Given the description of an element on the screen output the (x, y) to click on. 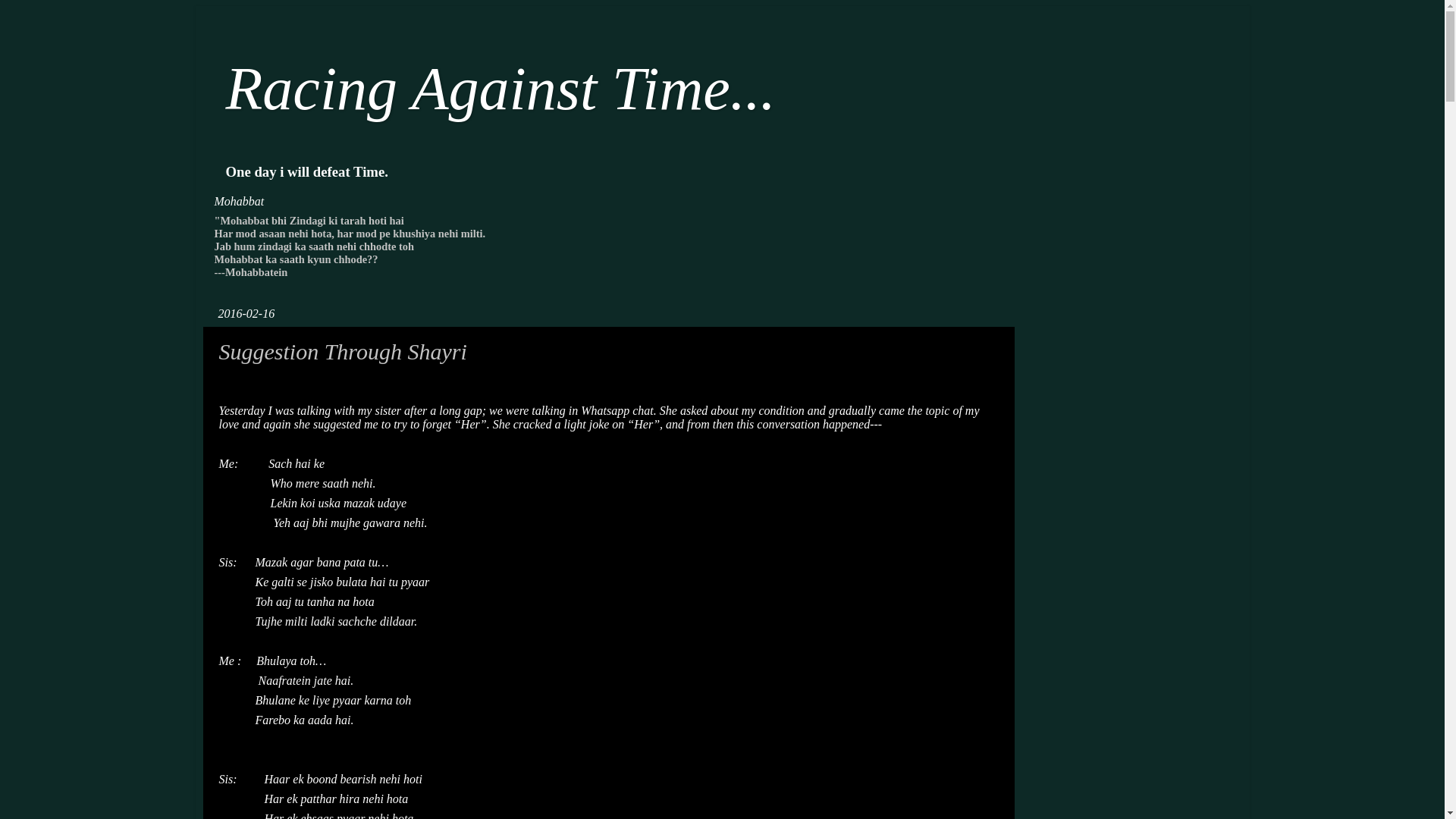
Racing Against Time... (500, 88)
